Given the description of an element on the screen output the (x, y) to click on. 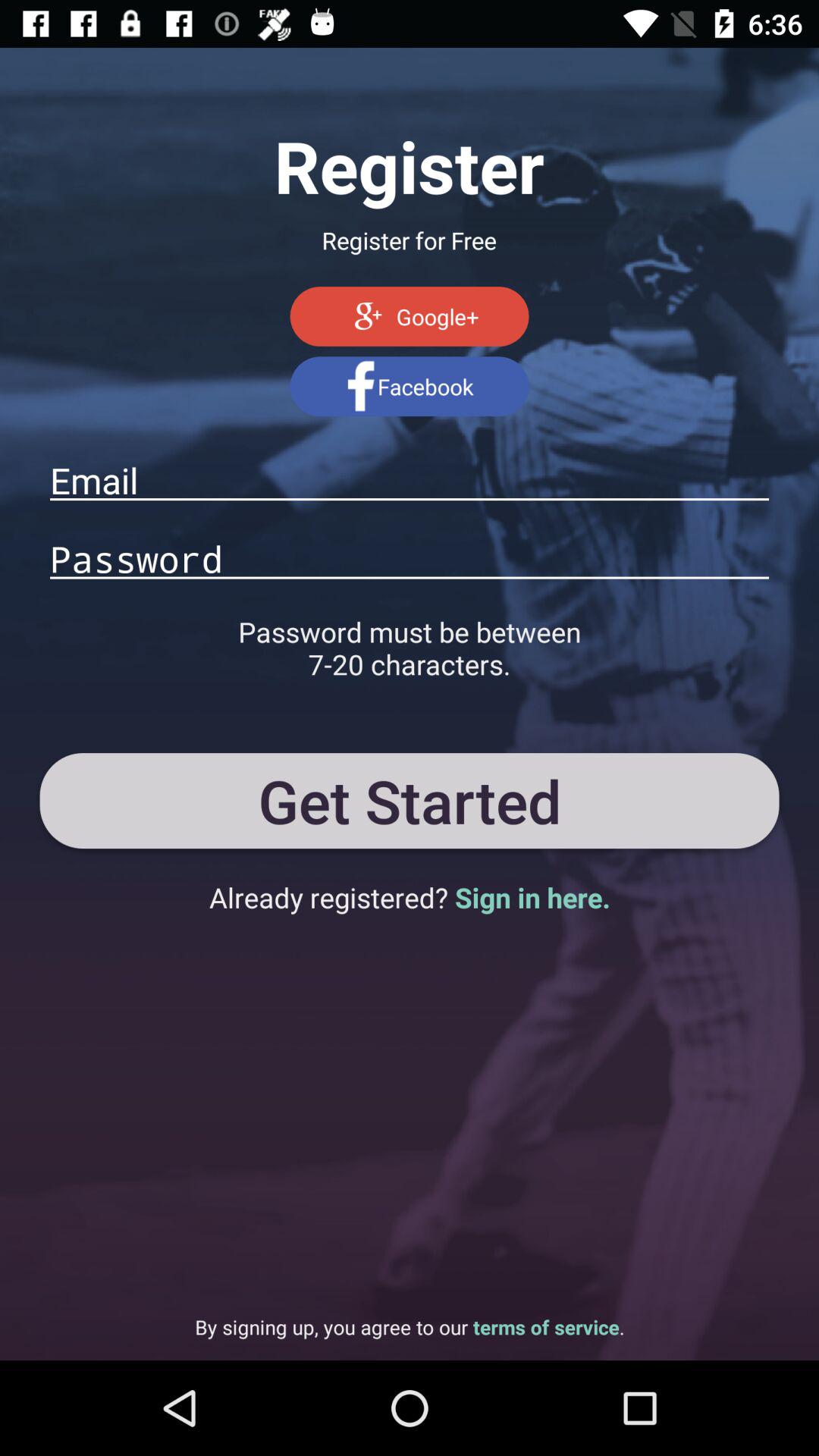
flip to the get started icon (409, 800)
